Given the description of an element on the screen output the (x, y) to click on. 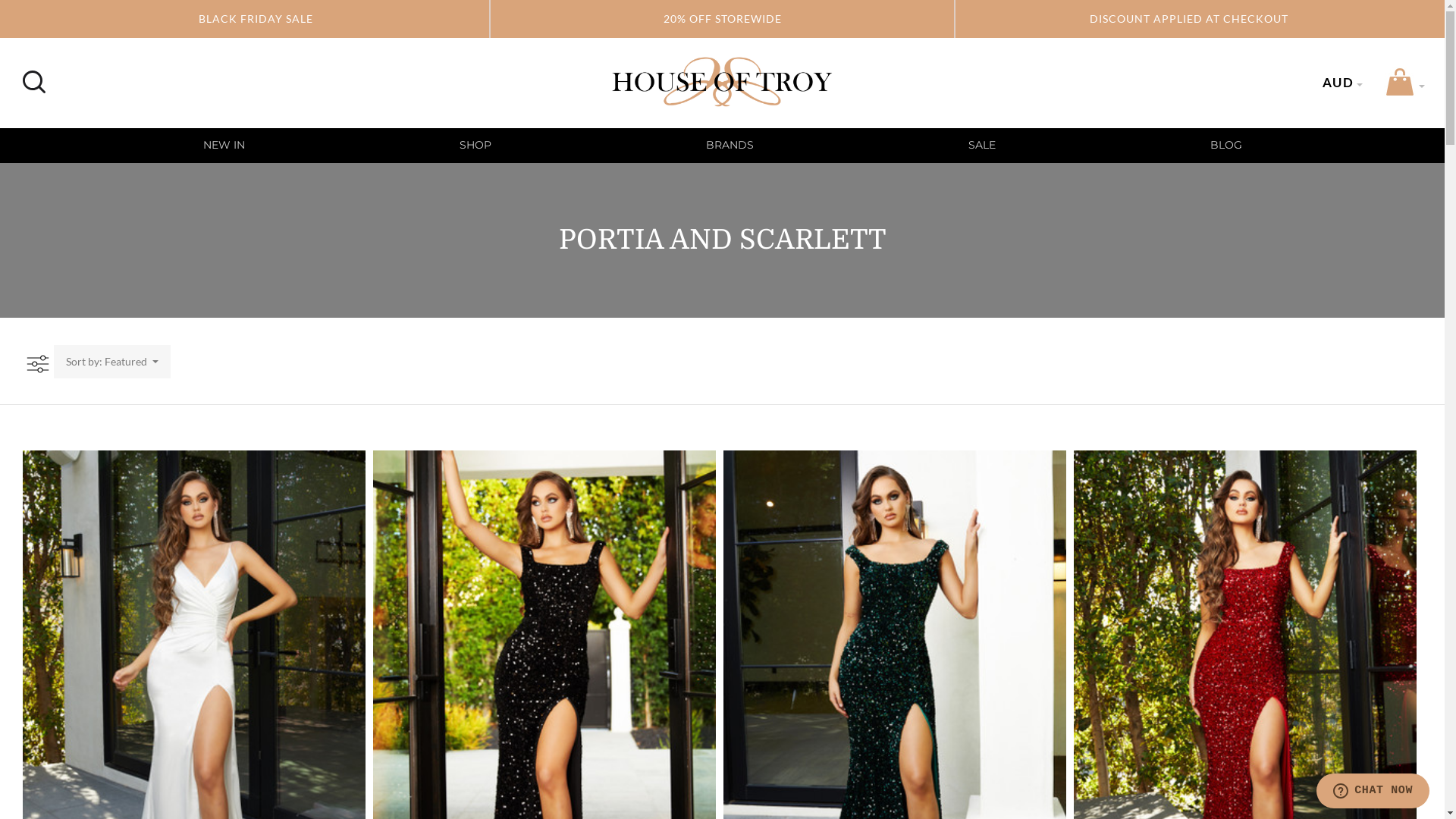
AUD Element type: text (1337, 81)
NEW IN Element type: text (223, 144)
SALE Element type: text (982, 144)
SHOP Element type: text (474, 144)
BRANDS Element type: text (729, 144)
BLOG Element type: text (1225, 144)
Opens a widget where you can chat to one of our agents Element type: hover (1372, 792)
SEARCH Element type: text (31, 73)
